Given the description of an element on the screen output the (x, y) to click on. 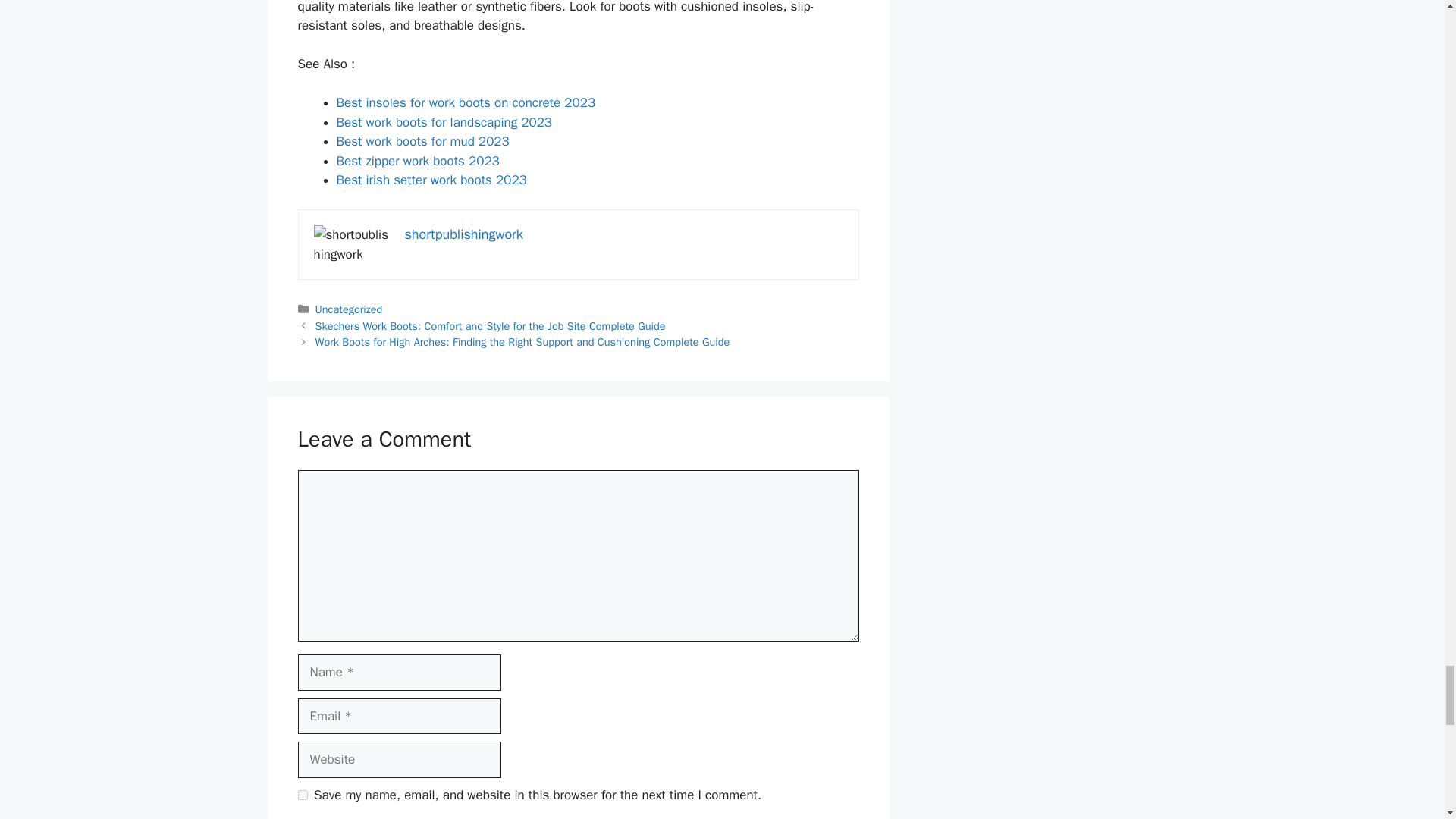
yes (302, 795)
